Given the description of an element on the screen output the (x, y) to click on. 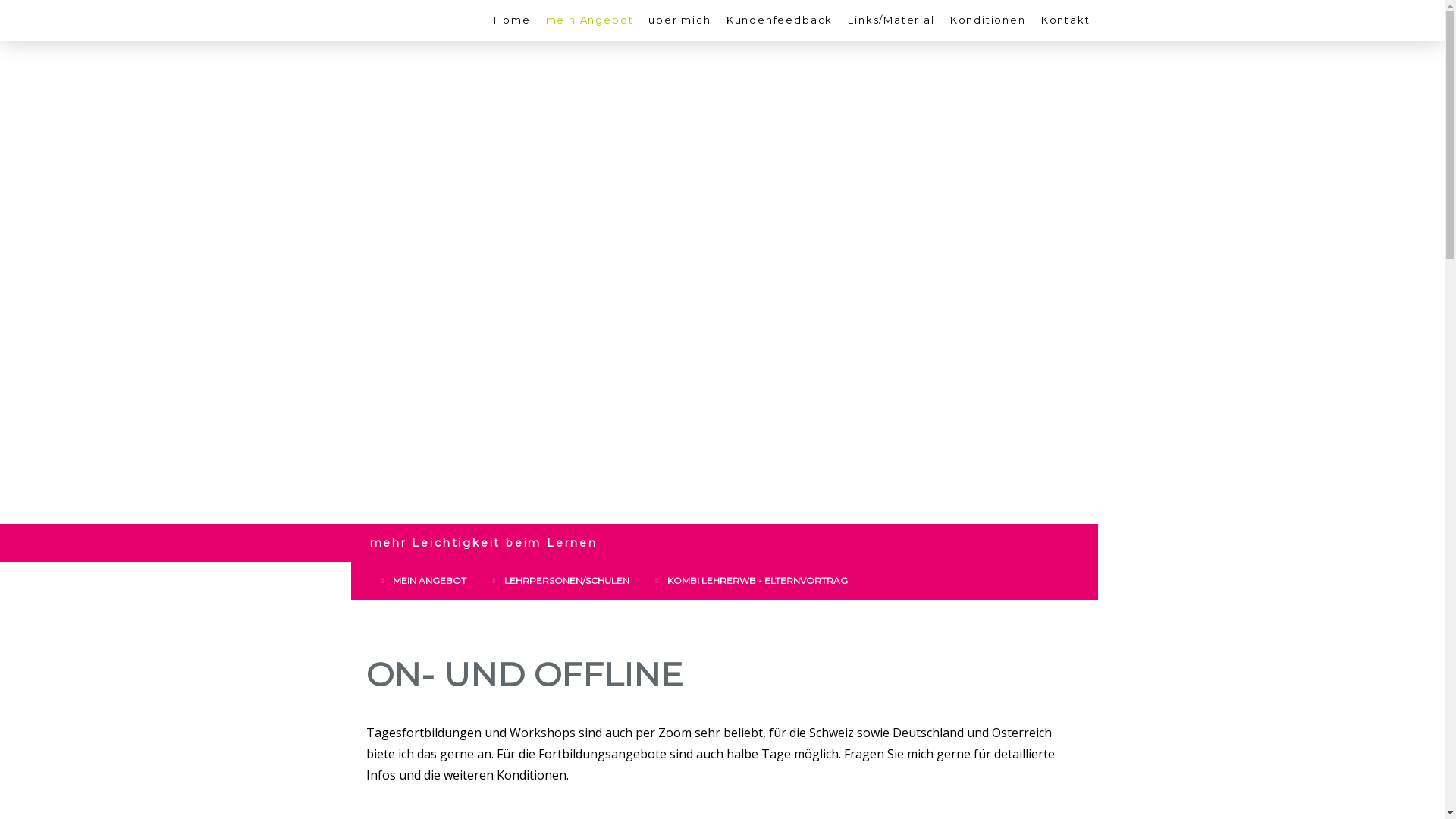
Kundenfeedback Element type: text (779, 20)
KOMBI LEHRERWB - ELTERNVORTRAG Element type: text (753, 580)
MEIN ANGEBOT Element type: text (425, 580)
mein Angebot Element type: text (589, 20)
Konditionen Element type: text (987, 20)
LEHRPERSONEN/SCHULEN Element type: text (561, 580)
mehr Leichtigkeit beim Lernen Element type: text (483, 542)
Kontakt Element type: text (1065, 20)
Home Element type: text (511, 20)
Links/Material Element type: text (890, 20)
